Given the description of an element on the screen output the (x, y) to click on. 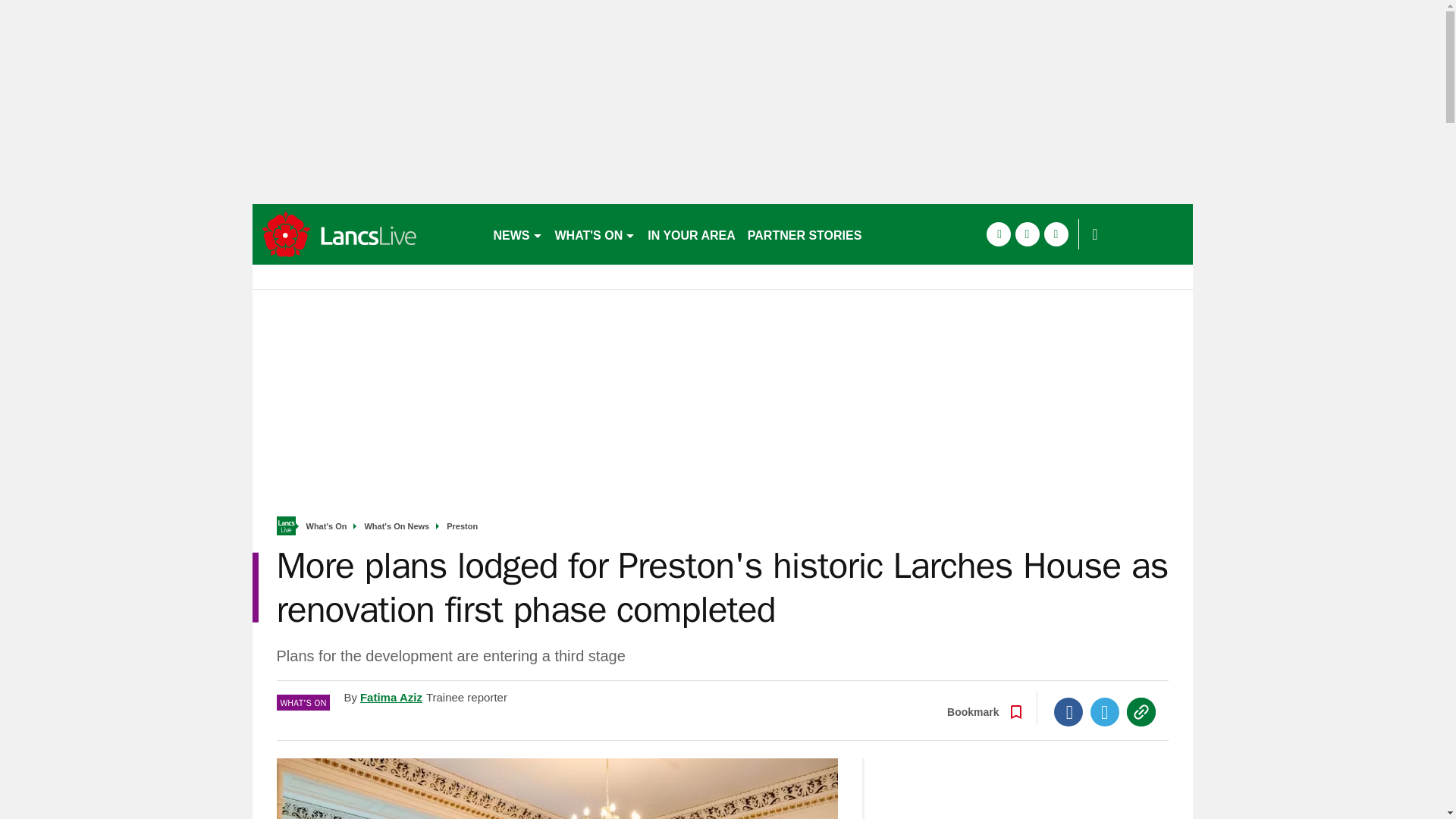
WHAT'S ON (595, 233)
instagram (1055, 233)
Facebook (1068, 711)
NEWS (517, 233)
accrington (365, 233)
facebook (997, 233)
IN YOUR AREA (691, 233)
twitter (1026, 233)
PARTNER STORIES (804, 233)
Twitter (1104, 711)
